Given the description of an element on the screen output the (x, y) to click on. 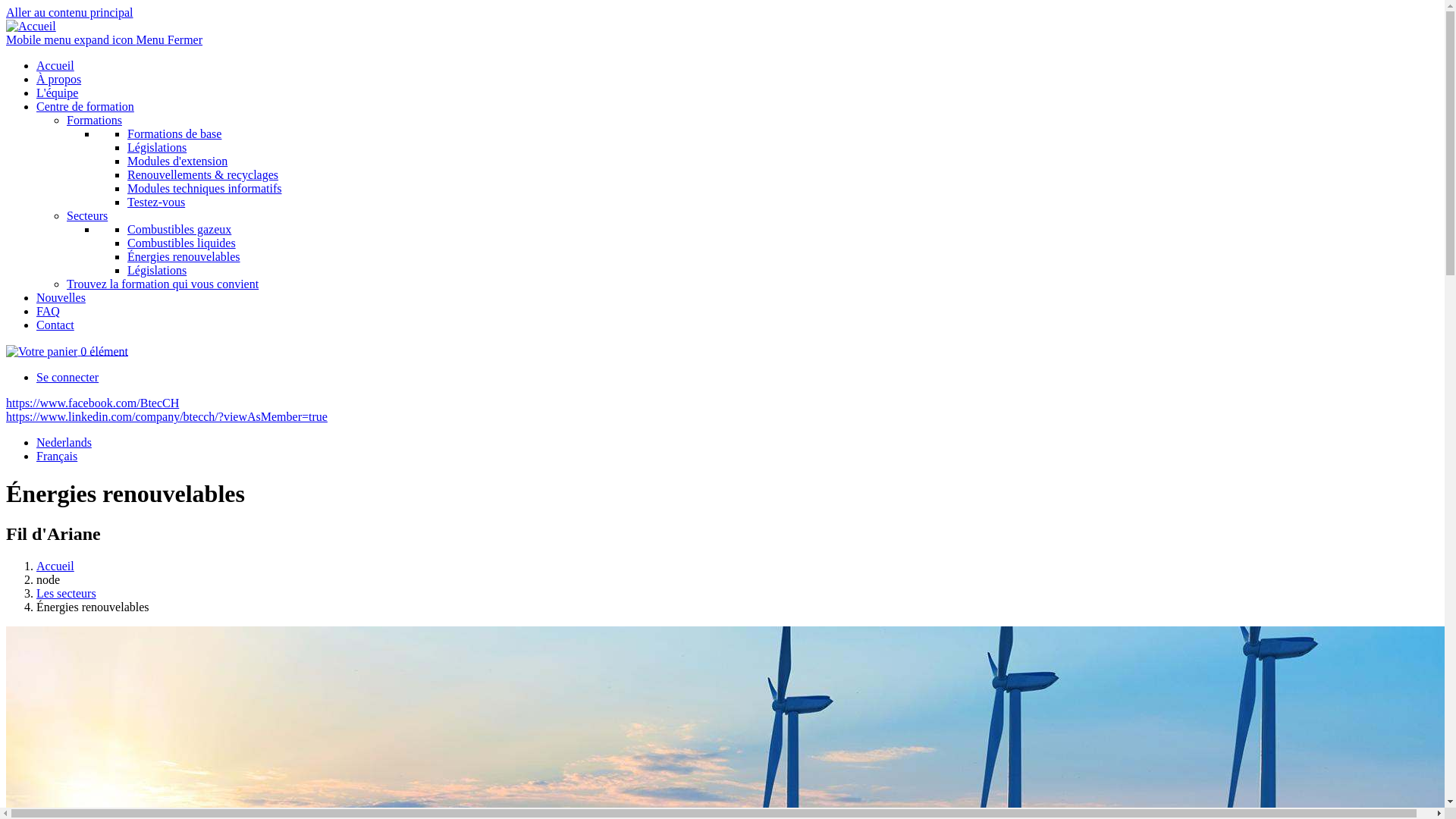
Aller au contenu principal Element type: text (69, 12)
Accueil Element type: text (55, 65)
Modules d'extension Element type: text (177, 160)
Combustibles liquides Element type: text (181, 242)
Les secteurs Element type: text (66, 592)
Accueil Element type: text (55, 565)
Modules techniques informatifs Element type: text (204, 188)
https://www.linkedin.com/company/btecch/?viewAsMember=true Element type: text (166, 416)
Nouvelles Element type: text (60, 297)
Contact Element type: text (55, 324)
Se connecter Element type: text (67, 376)
Testez-vous Element type: text (156, 201)
Mobile menu expand icon Menu Fermer Element type: text (104, 39)
Formations de base Element type: text (174, 133)
Formations Element type: text (94, 119)
Combustibles gazeux Element type: text (179, 228)
Renouvellements & recyclages Element type: text (202, 174)
Secteurs Element type: text (86, 215)
Trouvez la formation qui vous convient Element type: text (162, 283)
FAQ Element type: text (47, 310)
Accueil Element type: hover (31, 25)
Centre de formation Element type: text (85, 106)
Nederlands Element type: text (63, 442)
https://www.facebook.com/BtecCH Element type: text (92, 402)
